Given the description of an element on the screen output the (x, y) to click on. 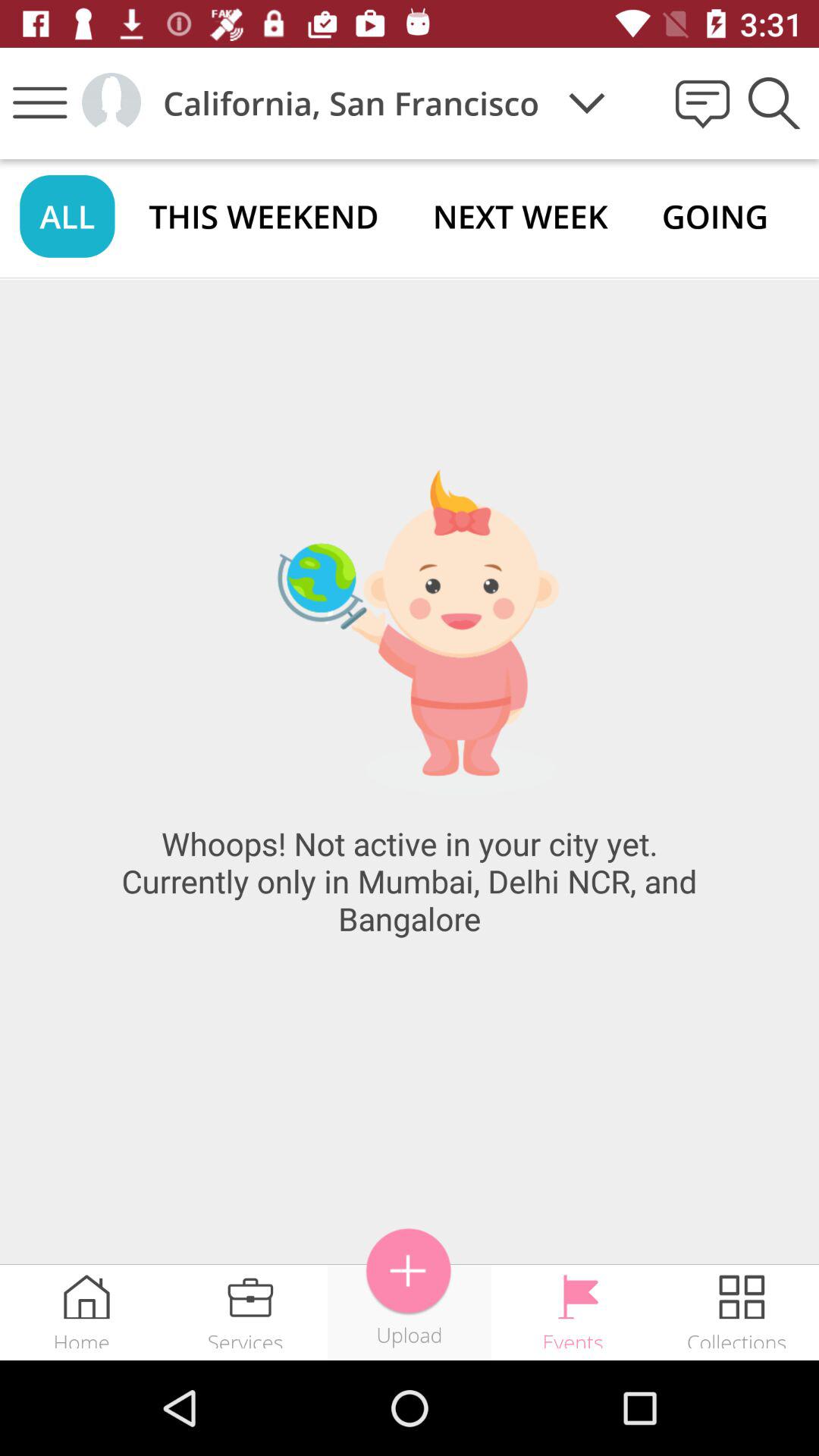
check profile (111, 102)
